Given the description of an element on the screen output the (x, y) to click on. 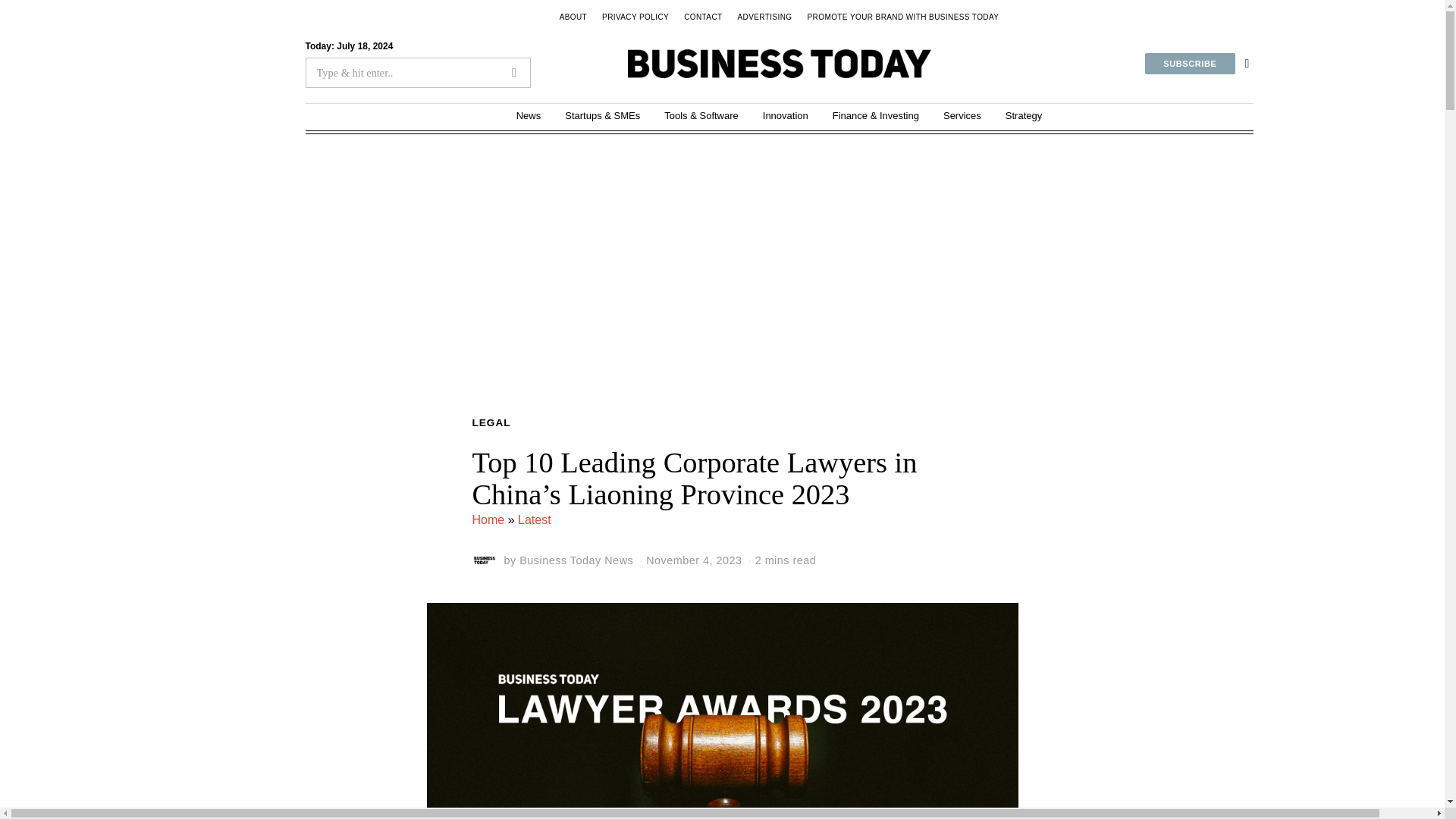
Strategy (1023, 115)
PROMOTE YOUR BRAND WITH BUSINESS TODAY (903, 16)
ABOUT (572, 16)
Go (514, 72)
News (528, 115)
Services (961, 115)
CONTACT (703, 16)
PRIVACY POLICY (635, 16)
SUBSCRIBE (1189, 63)
ADVERTISING (764, 16)
Innovation (786, 115)
